Given the description of an element on the screen output the (x, y) to click on. 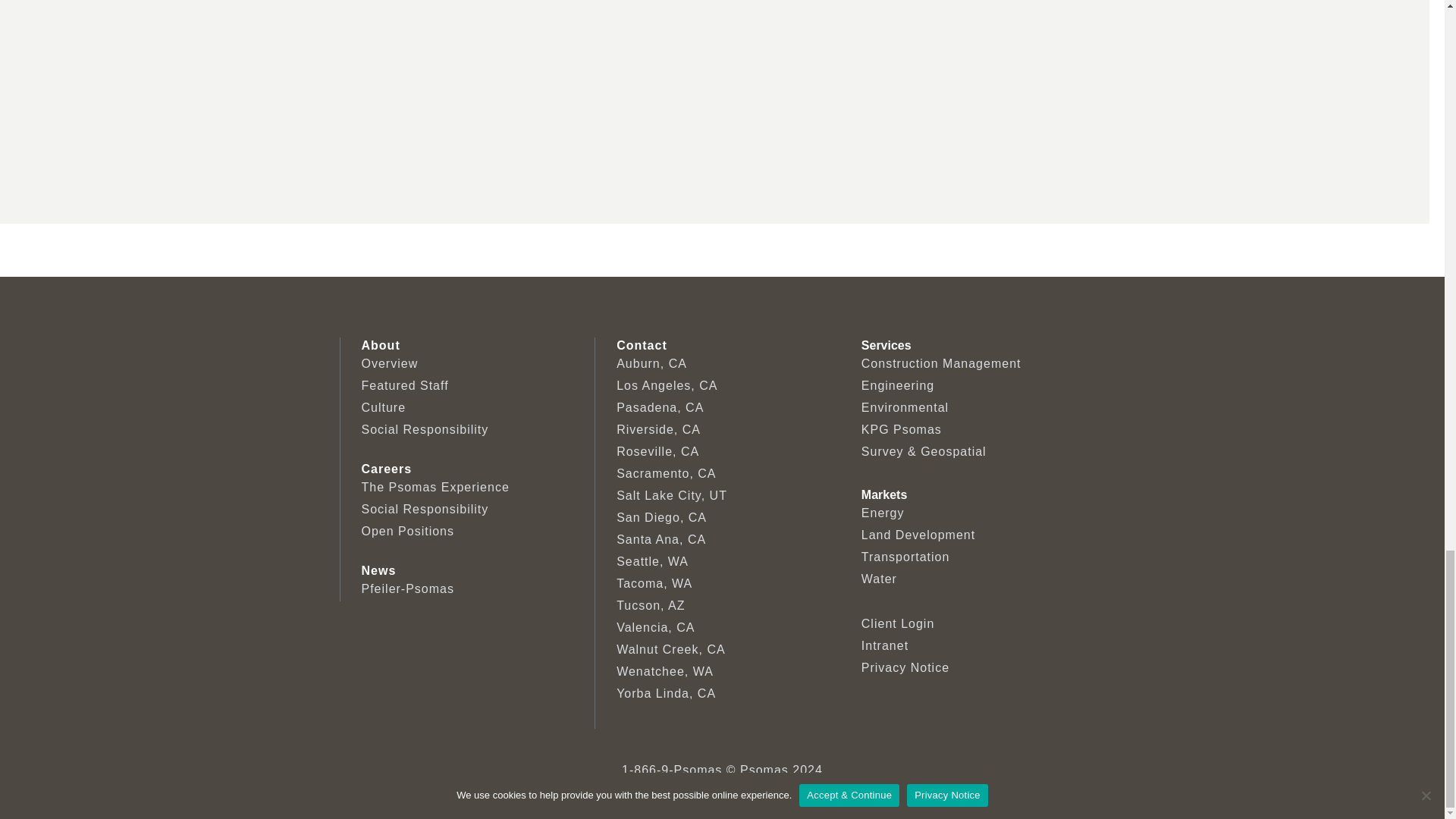
Instagram (741, 792)
LinkedIn (702, 792)
